Given the description of an element on the screen output the (x, y) to click on. 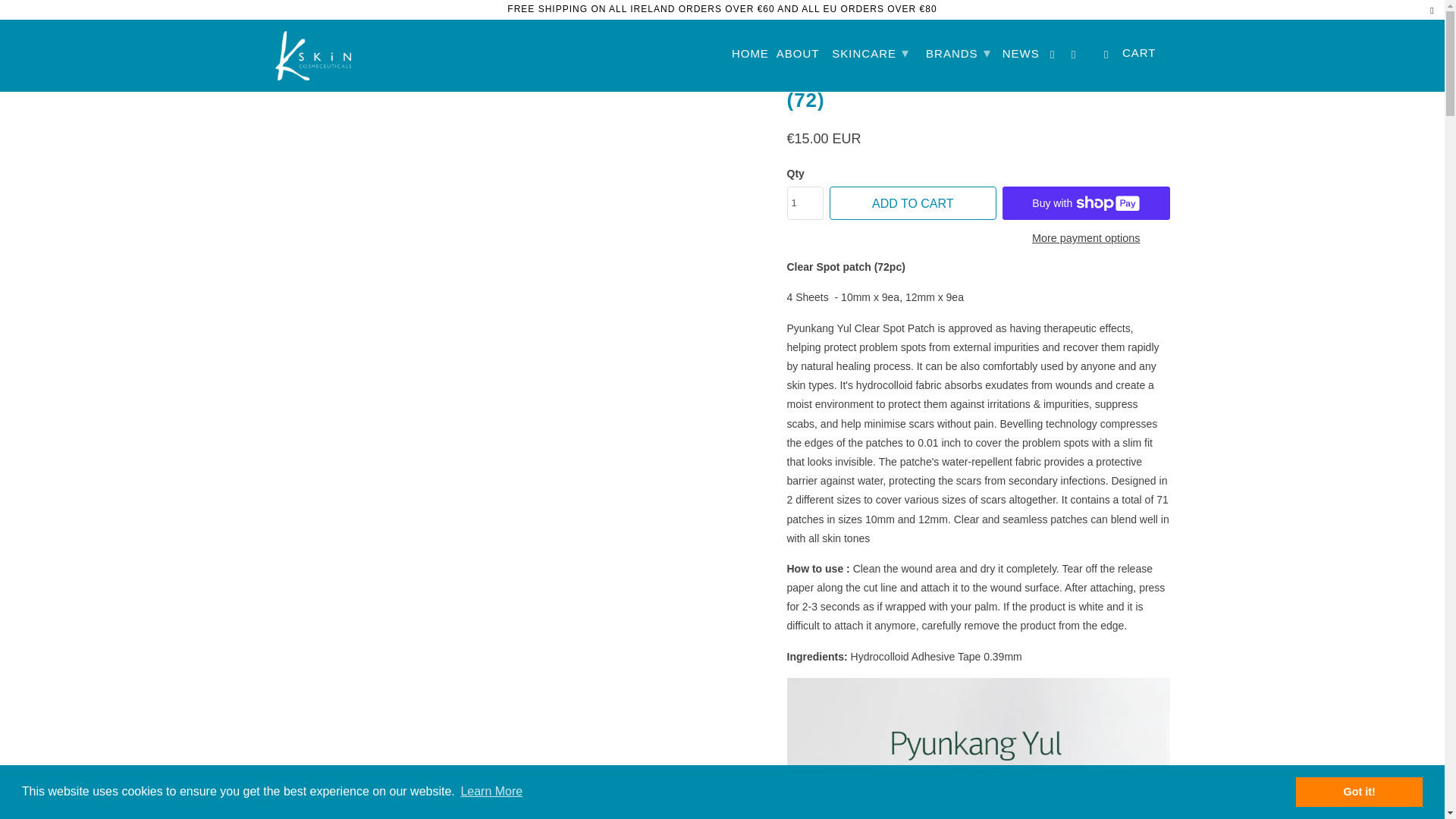
1 (805, 203)
Learn More (491, 791)
Products (339, 24)
Got it! (1358, 791)
Kskin Cosmeceuticals (288, 24)
